Given the description of an element on the screen output the (x, y) to click on. 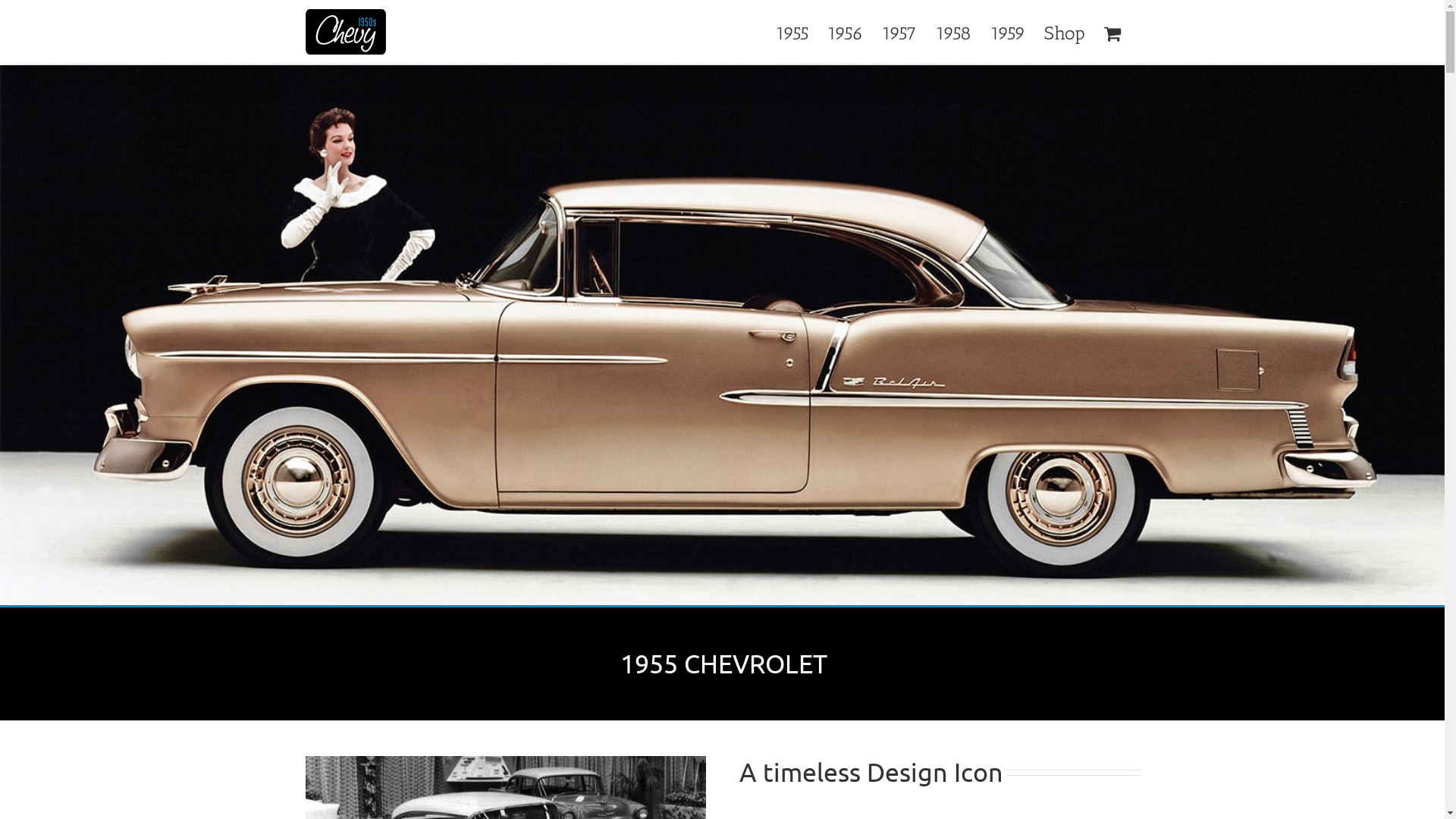
1955 Element type: text (791, 31)
1958 Element type: text (953, 31)
1957 Element type: text (898, 31)
1959 Element type: text (1007, 31)
1955 Chevrolet Bel Air Coupe Element type: hover (722, 335)
Shop Element type: text (1063, 31)
1956 Element type: text (844, 31)
